Given the description of an element on the screen output the (x, y) to click on. 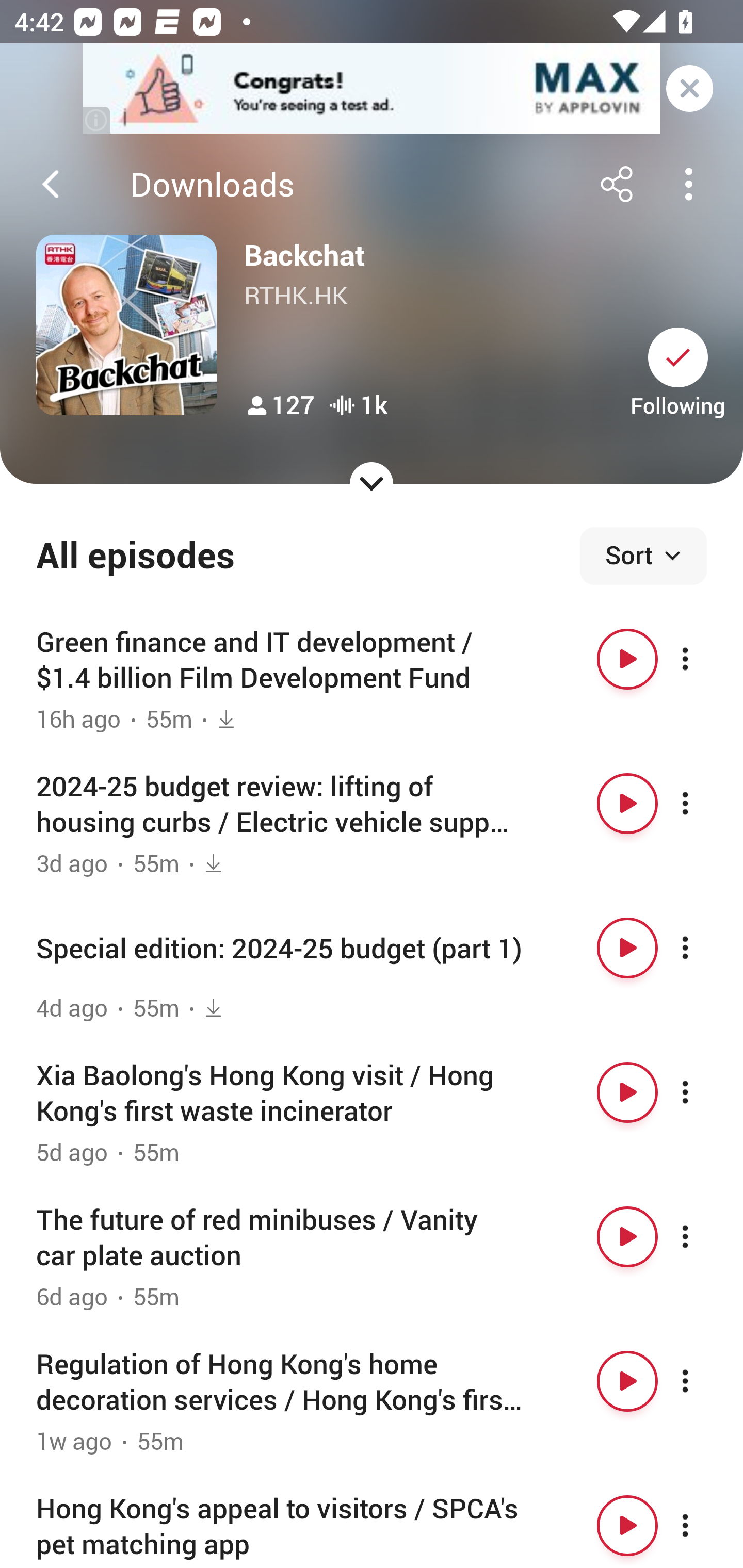
app-monetization (371, 88)
(i) (96, 119)
Back (50, 184)
Unsubscribe button (677, 357)
Sort episodes Sort (643, 555)
Play button (627, 659)
More options (703, 659)
Play button (627, 803)
More options (703, 803)
Play button (627, 947)
More options (703, 947)
Play button (627, 1092)
More options (703, 1092)
Play button (627, 1236)
More options (703, 1236)
Play button (627, 1381)
More options (703, 1381)
Play button (627, 1525)
More options (703, 1525)
